Given the description of an element on the screen output the (x, y) to click on. 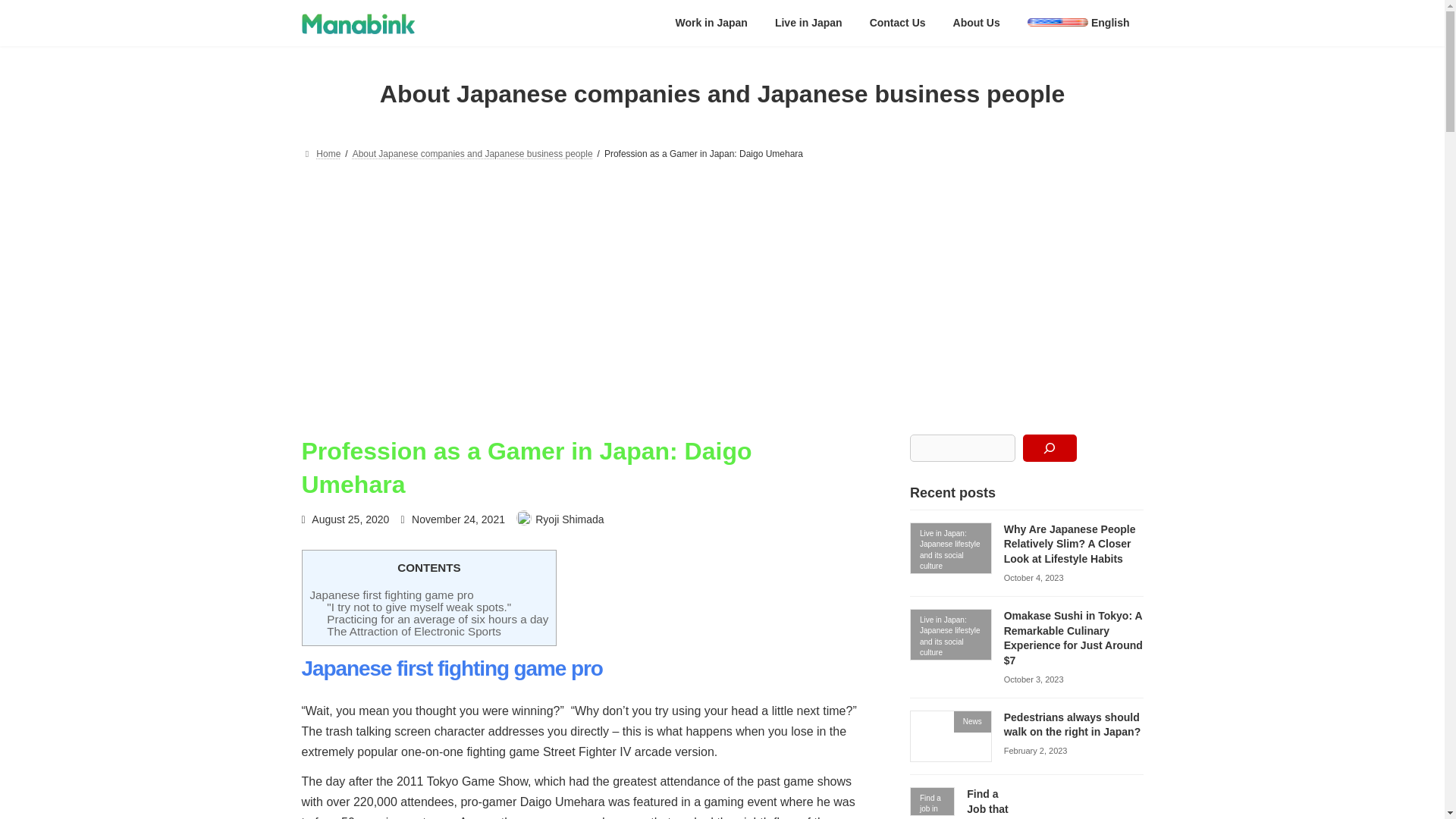
Practicing for an average of six hours a day (437, 618)
The Attraction of Electronic Sports (413, 631)
Contact Us (897, 22)
Advertisement (1077, 806)
"I try not to give myself weak spots." (418, 606)
About Us (976, 22)
About Japanese companies and Japanese business people (472, 153)
Live in Japan (808, 22)
Japanese first fighting game pro (390, 594)
